Given the description of an element on the screen output the (x, y) to click on. 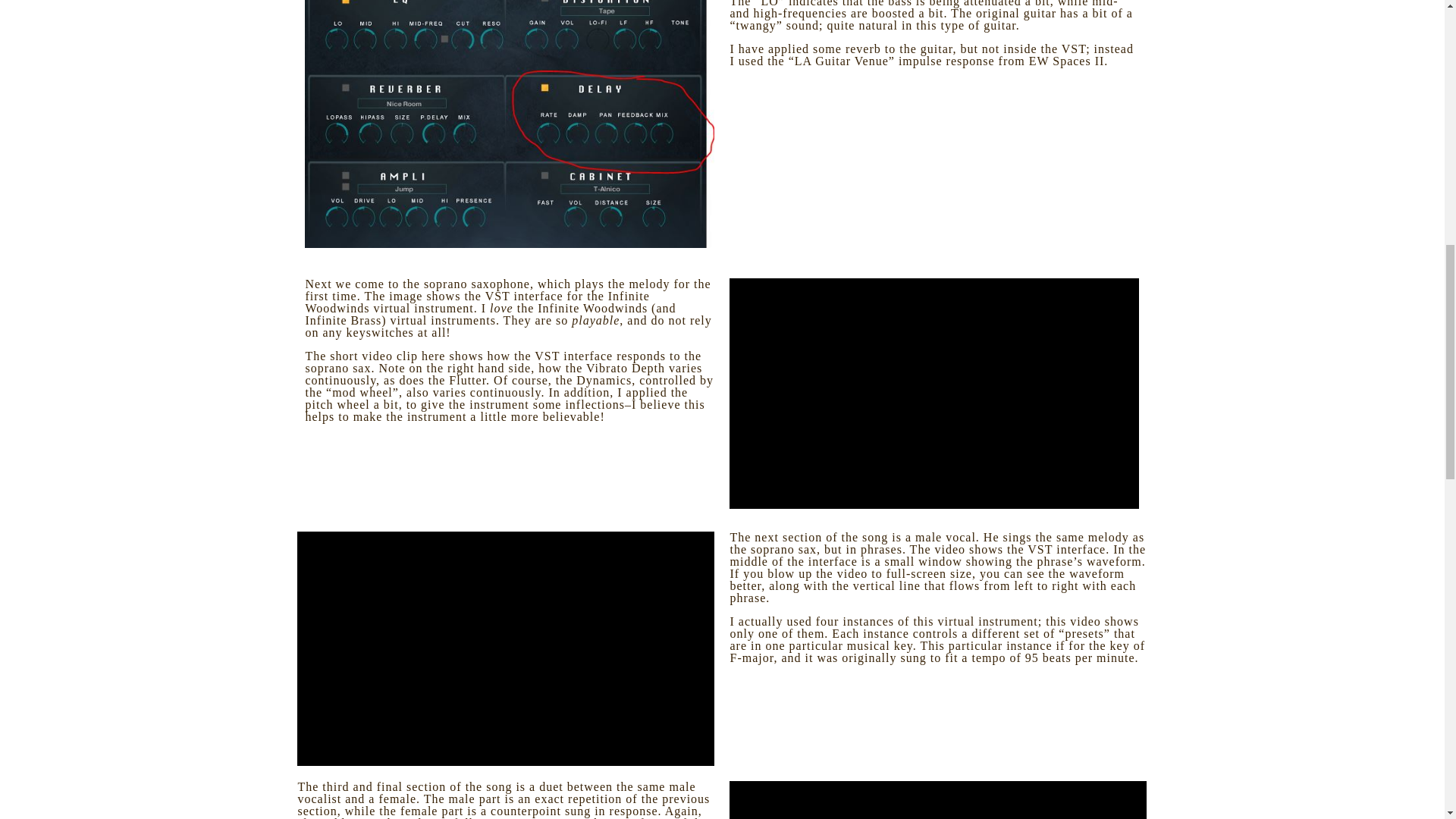
vimeo Video Player (938, 800)
vimeo Video Player (933, 393)
vimeo Video Player (505, 647)
